Given the description of an element on the screen output the (x, y) to click on. 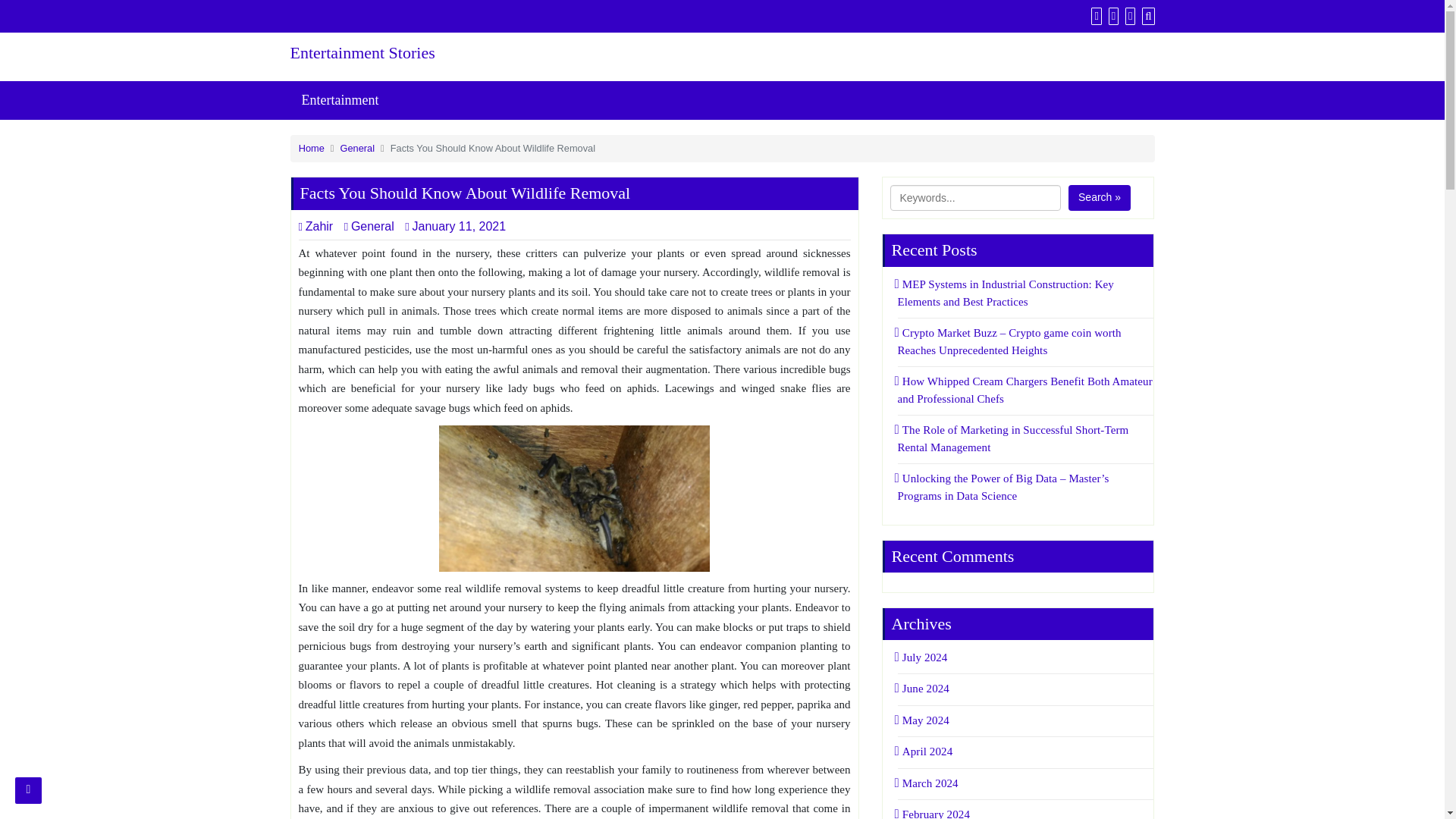
Zahir (315, 226)
March 2024 (928, 783)
Home (311, 147)
Entertainment (339, 99)
February 2024 (934, 813)
June 2024 (923, 688)
General (368, 226)
Entertainment Stories (425, 53)
General (357, 147)
May 2024 (923, 720)
July 2024 (922, 657)
April 2024 (925, 751)
